Given the description of an element on the screen output the (x, y) to click on. 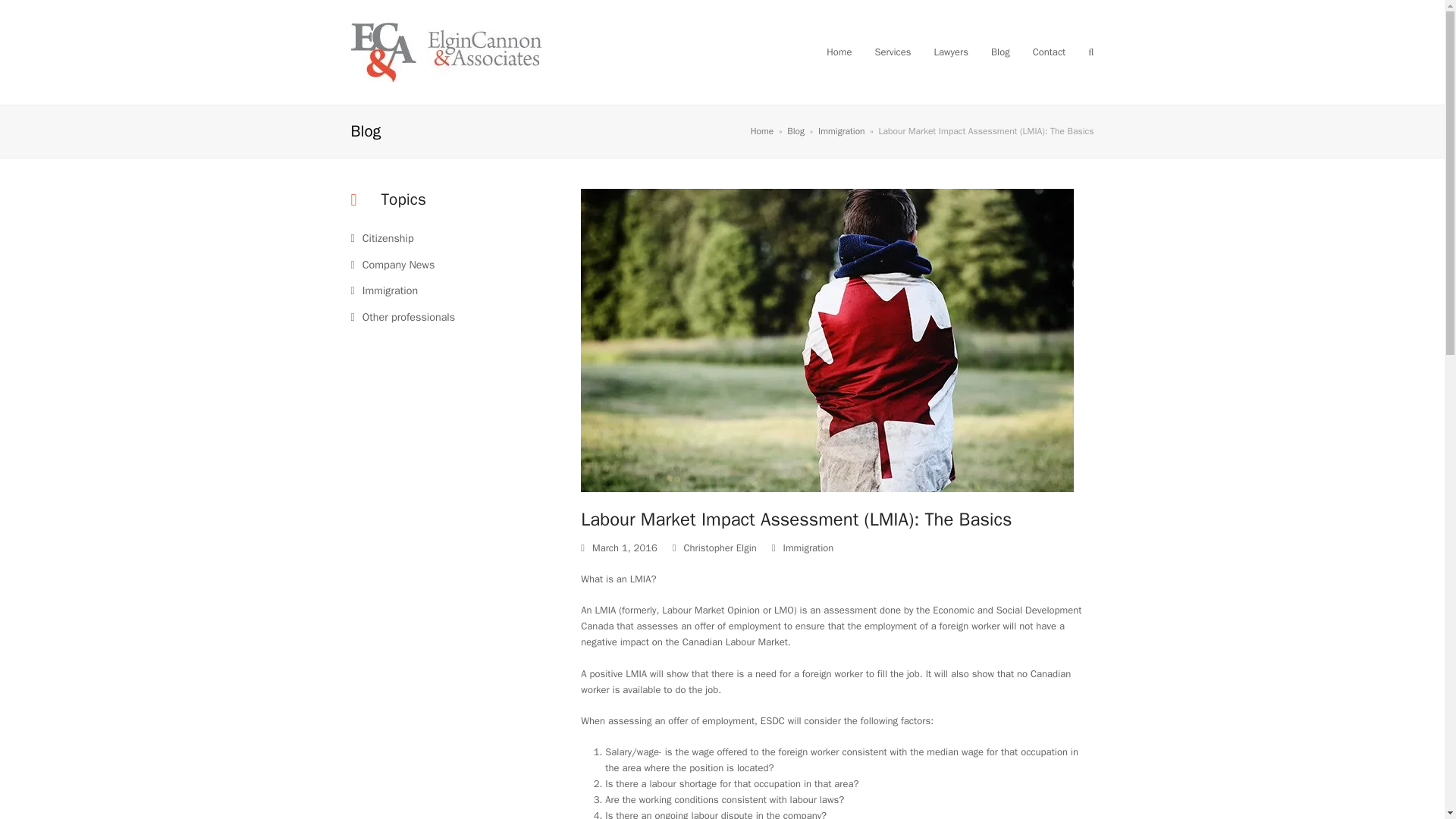
Immigration (808, 547)
Services (892, 52)
Blog (796, 131)
Christopher Elgin (720, 547)
Citizenship (381, 237)
Contact (1049, 52)
Lawyers (951, 52)
Home (762, 131)
Home (839, 52)
Other professionals (402, 316)
